Given the description of an element on the screen output the (x, y) to click on. 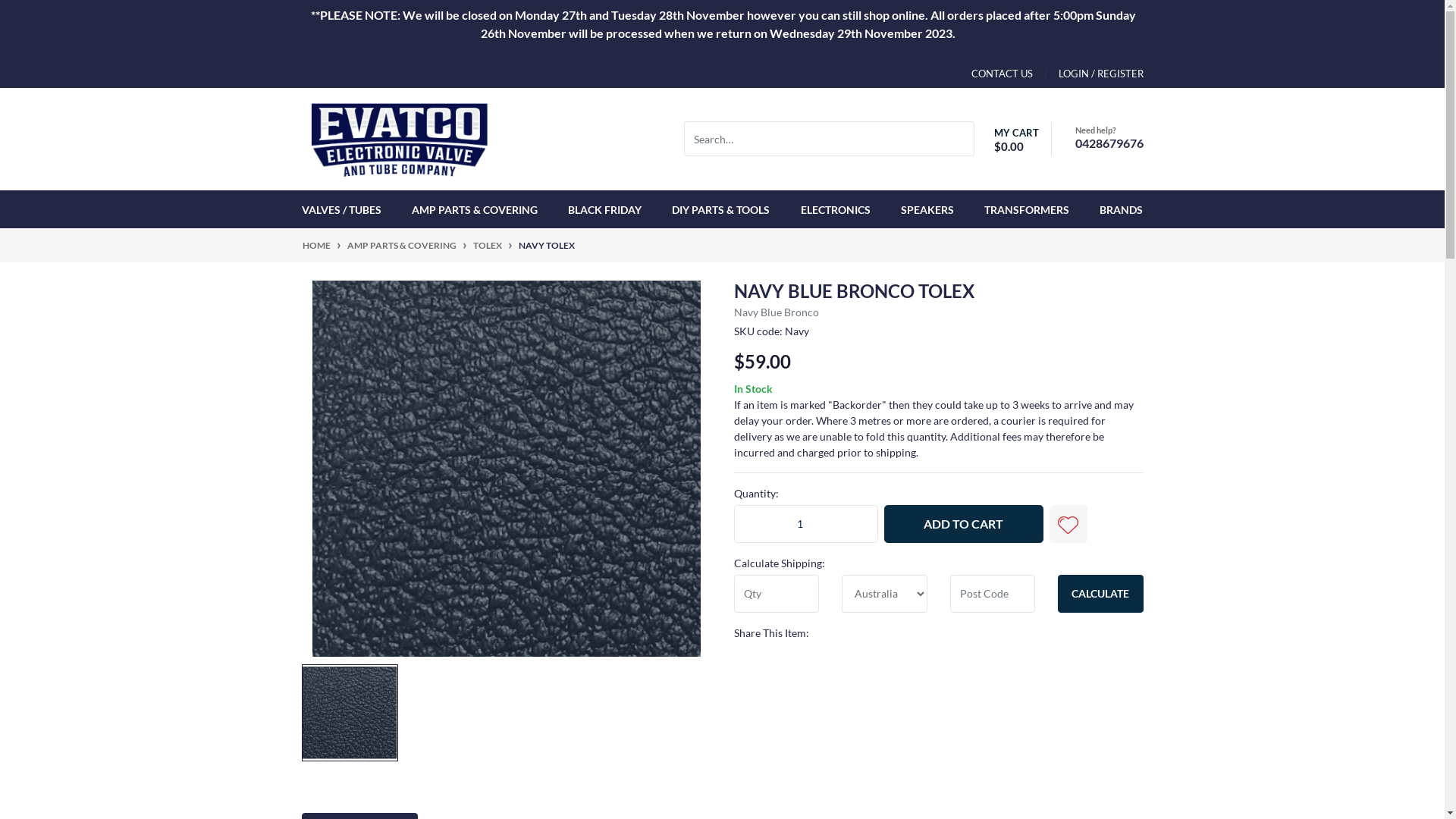
BLACK FRIDAY Element type: text (604, 209)
ADD TO CART Element type: text (963, 523)
LOGIN / REGISTER Element type: text (1087, 73)
TOLEX Element type: text (487, 245)
AMP PARTS & COVERING Element type: text (474, 209)
Evatco Element type: hover (398, 137)
AMP PARTS & COVERING Element type: text (401, 245)
TRANSFORMERS Element type: text (1026, 209)
0428679676 Element type: text (1109, 142)
HOME Element type: text (315, 245)
NAVY TOLEX Element type: text (546, 245)
Add To Wishlist Element type: hover (1068, 523)
CALCULATE Element type: text (1100, 593)
Search Element type: text (964, 138)
CONTACT US Element type: text (1001, 73)
DIY PARTS & TOOLS Element type: text (720, 209)
SPEAKERS Element type: text (927, 209)
VALVES / TUBES Element type: text (344, 209)
ELECTRONICS Element type: text (835, 209)
BRANDS Element type: text (1117, 209)
MY CART
$0.00 Element type: text (1012, 139)
